Given the description of an element on the screen output the (x, y) to click on. 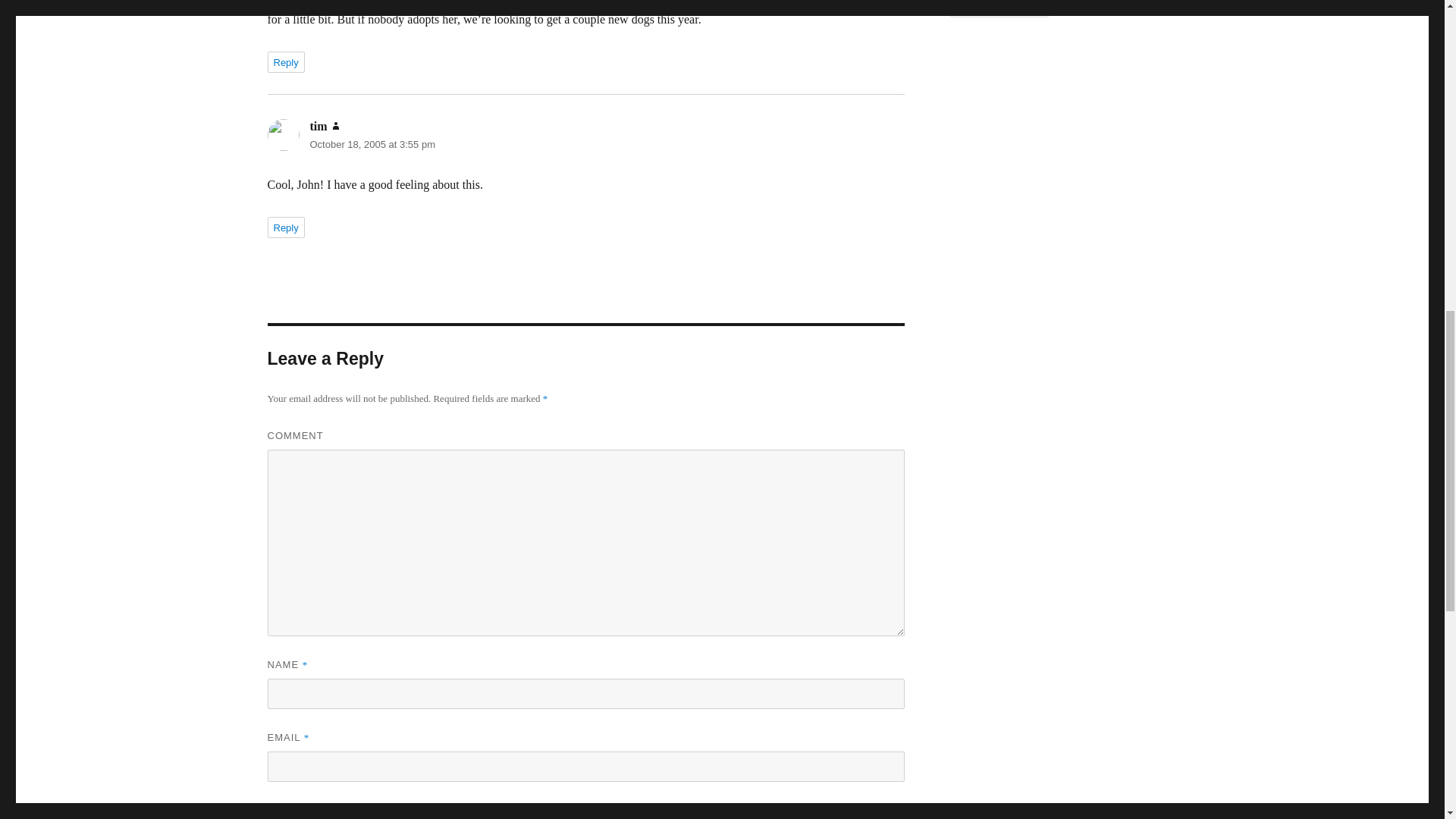
Reply (285, 61)
Reply (285, 227)
October 18, 2005 at 3:55 pm (371, 143)
